Given the description of an element on the screen output the (x, y) to click on. 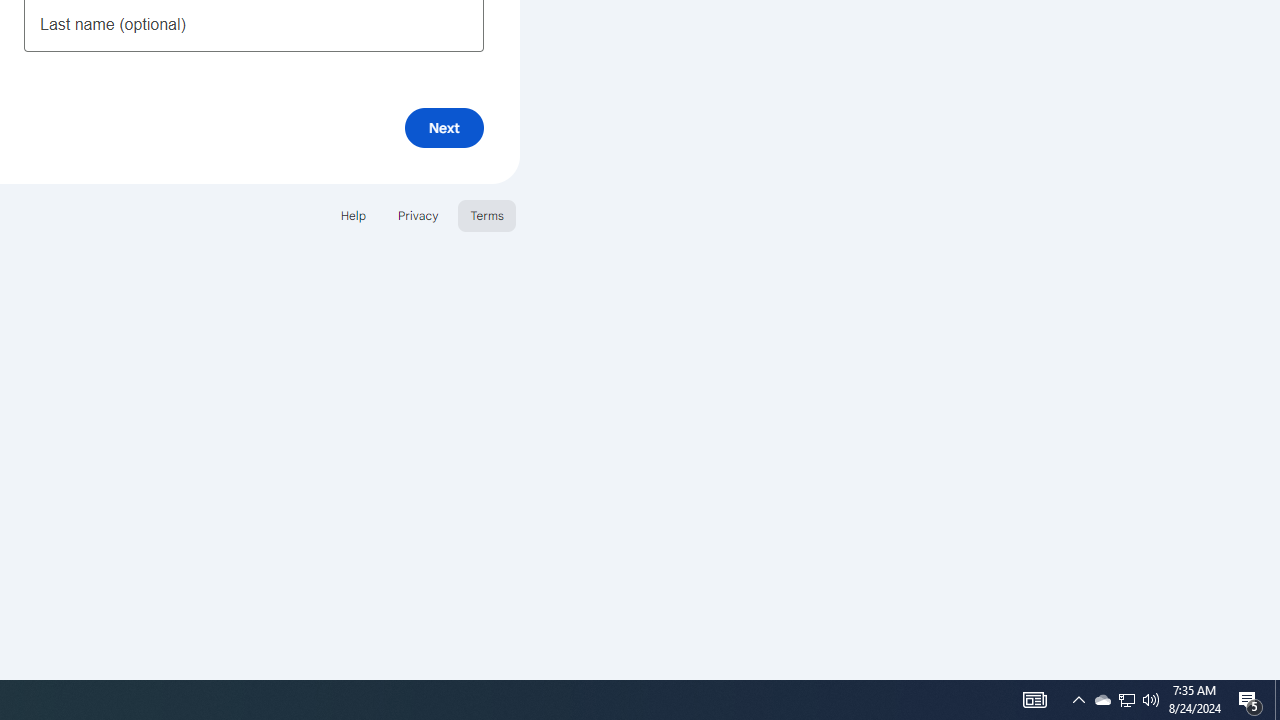
Help (352, 214)
Terms (486, 214)
Next (443, 127)
Privacy (417, 214)
